Given the description of an element on the screen output the (x, y) to click on. 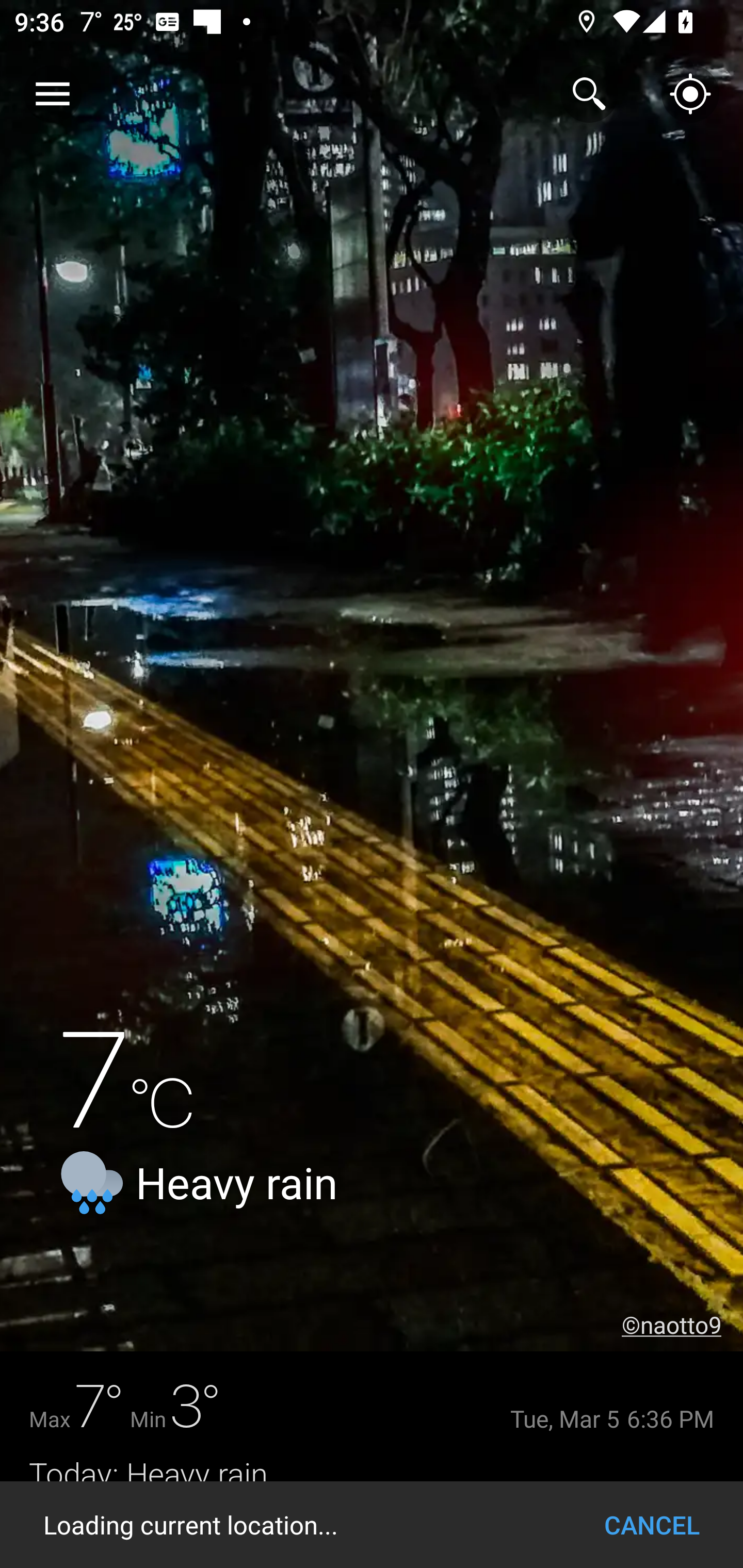
©naotto9 (682, 1324)
Loading current location... CANCEL (371, 1524)
CANCEL (651, 1524)
